Given the description of an element on the screen output the (x, y) to click on. 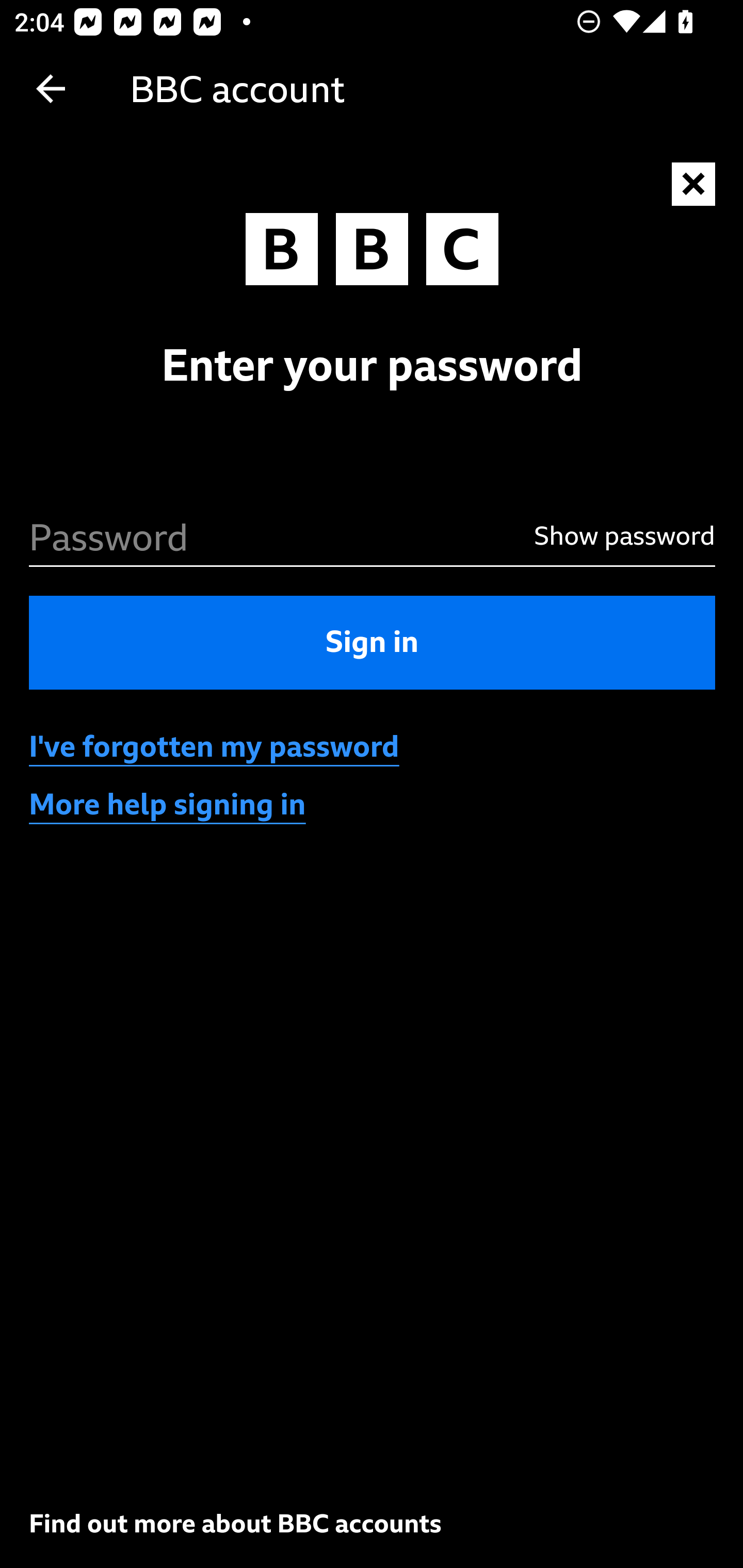
Close and return to where you originally came from (694, 184)
Go to the BBC Homepage (371, 253)
Show password (616, 535)
Sign in (372, 641)
I've forgotten my password (214, 747)
More help signing in (167, 805)
Find out more about BBC accounts (235, 1522)
